Given the description of an element on the screen output the (x, y) to click on. 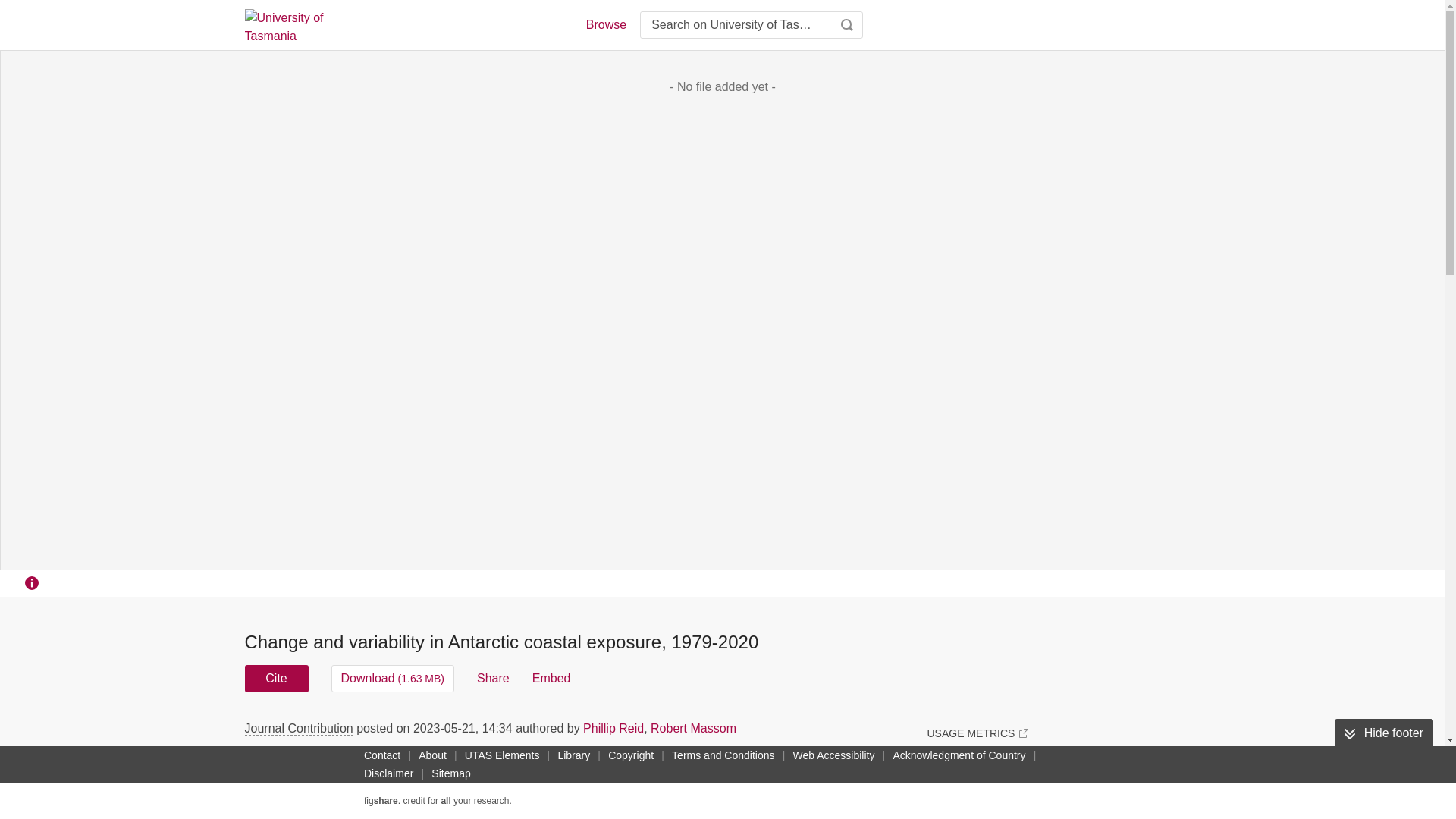
Library (573, 755)
Terms and Conditions (722, 755)
About (432, 755)
Browse (605, 24)
Sitemap (450, 773)
Phillip Reid (613, 727)
Hide footer (1383, 733)
Copyright (631, 755)
Web Accessibility (834, 755)
Robert Massom (693, 727)
